Given the description of an element on the screen output the (x, y) to click on. 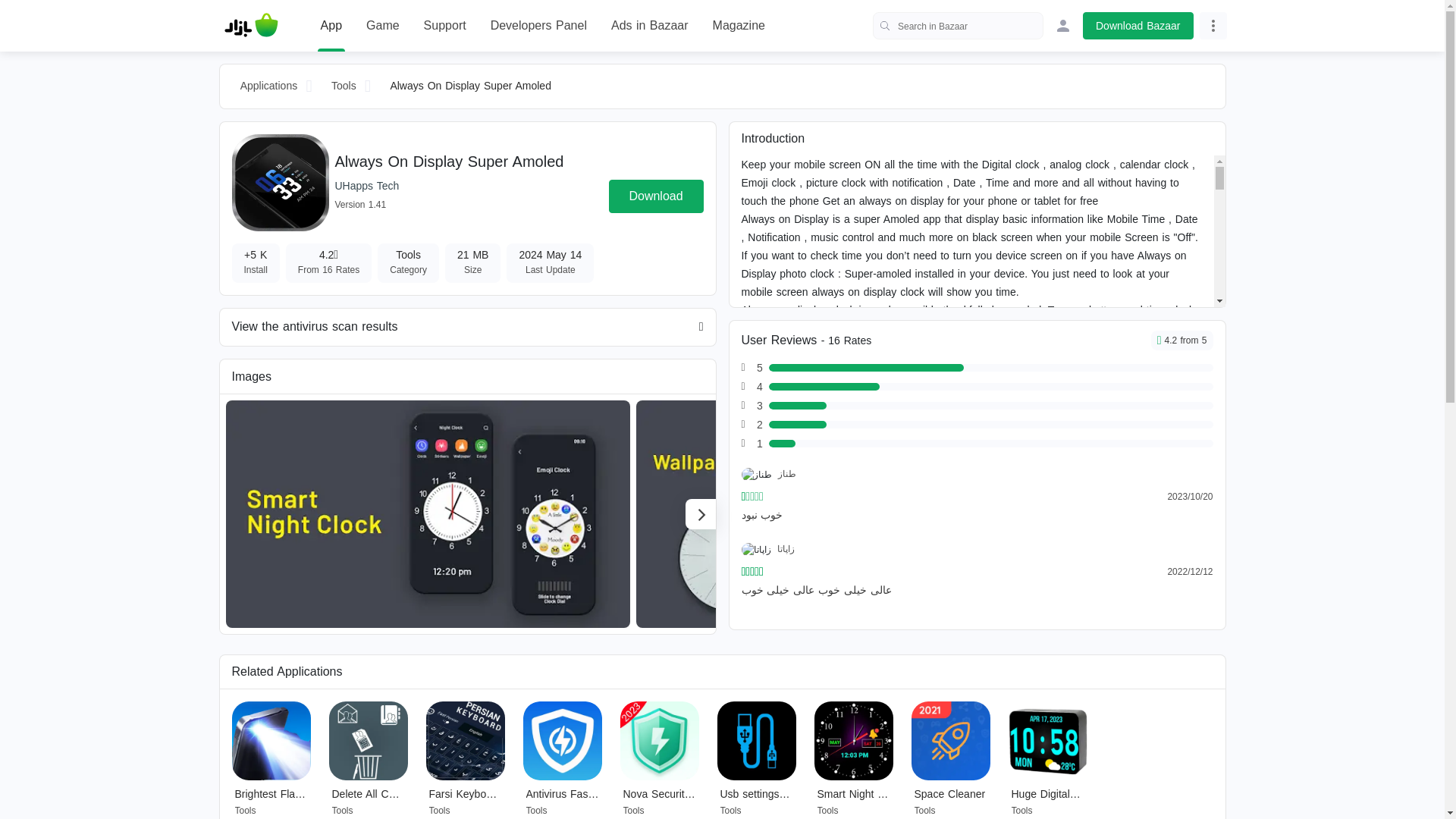
Magazine (739, 25)
Tools (344, 86)
Login to Bazaar (1063, 25)
Ads in Bazaar (649, 25)
Support (444, 25)
Applications (268, 86)
Download Bazaar (1138, 25)
Developers Panel (538, 25)
Home (250, 25)
Settings Menu (1213, 25)
